Given the description of an element on the screen output the (x, y) to click on. 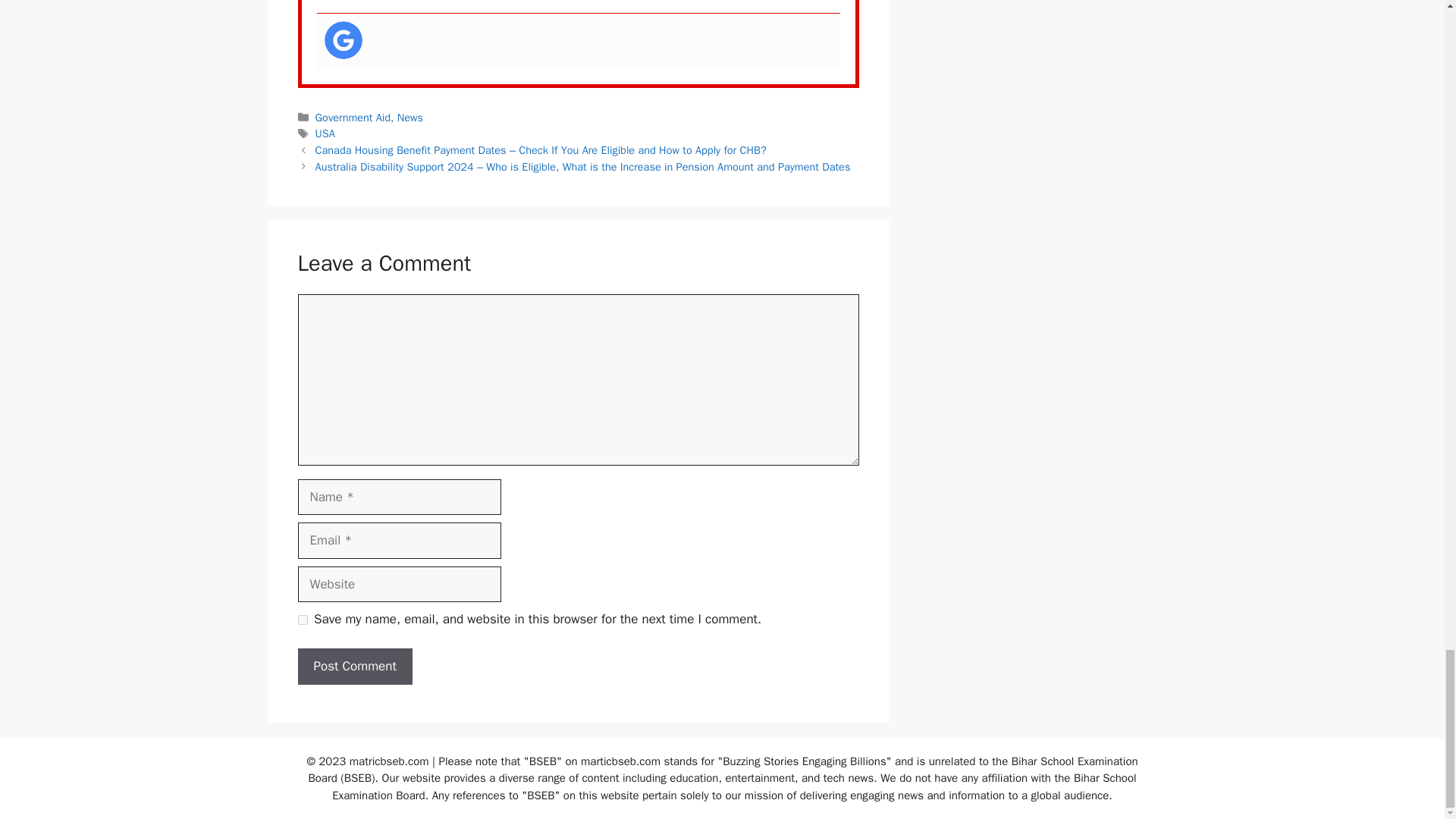
News (410, 117)
USA (324, 133)
yes (302, 619)
Google (343, 39)
Post Comment (354, 666)
Government Aid (352, 117)
Post Comment (354, 666)
